Given the description of an element on the screen output the (x, y) to click on. 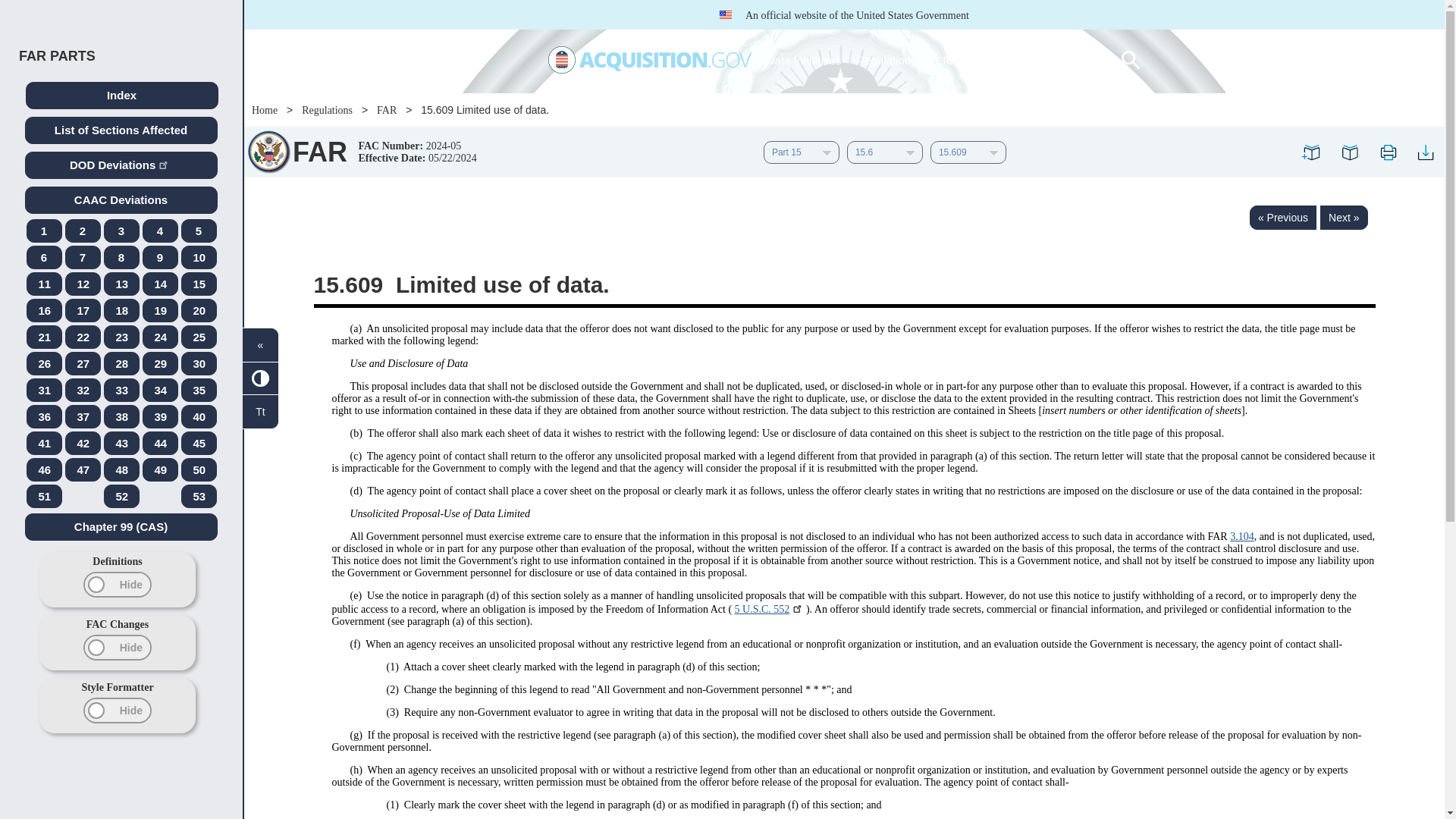
Open bookmarks. (1349, 152)
FAR Sub Topic menu. (968, 151)
Regulations (890, 59)
Regulations (890, 59)
FAR Part menu. (801, 151)
FAR Sub Part menu. (885, 151)
FAR (268, 150)
Data Initiatives (803, 59)
Tools (958, 60)
Add Bookmark (1311, 152)
Data Initiatives (803, 59)
